Given the description of an element on the screen output the (x, y) to click on. 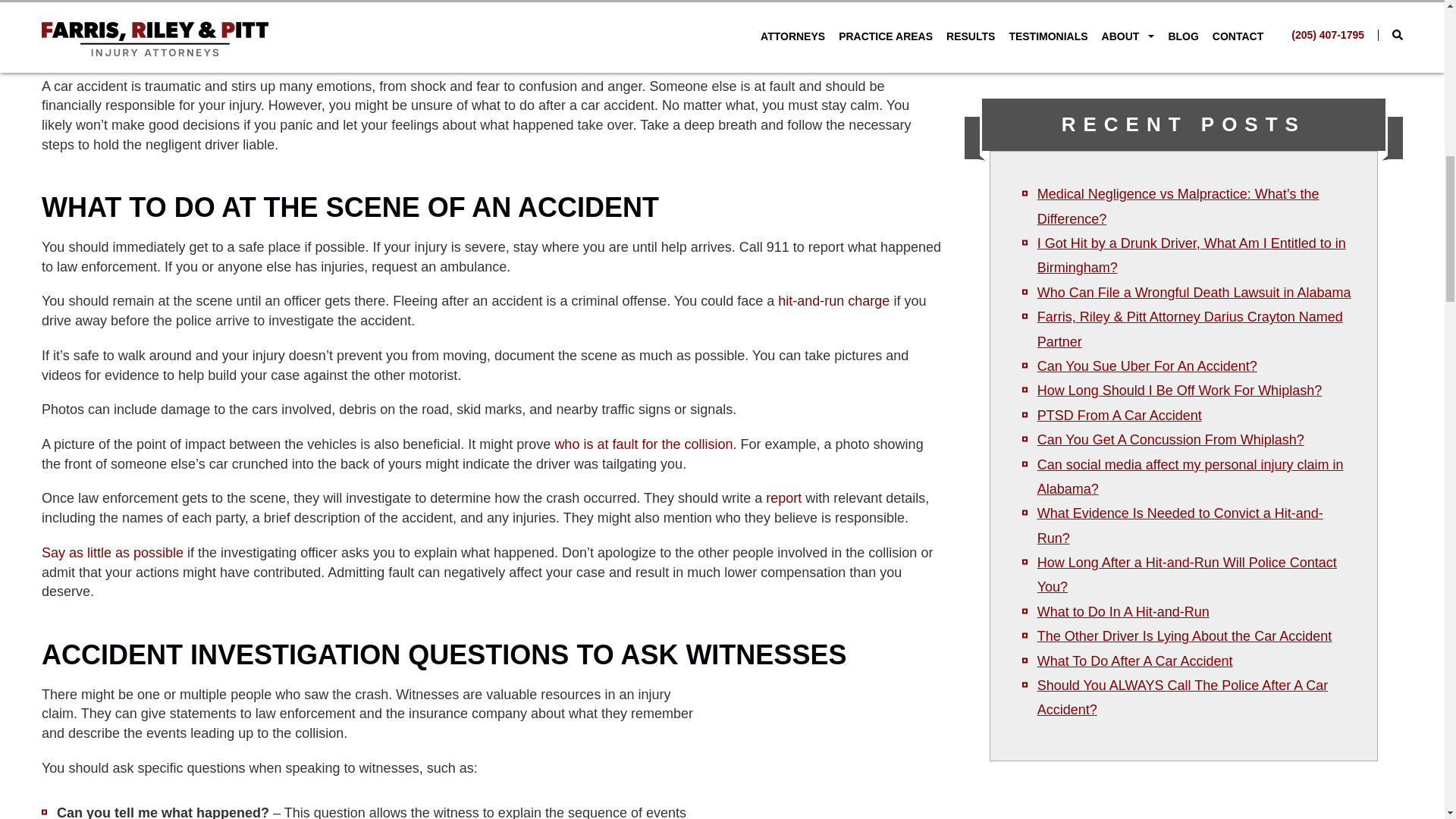
who is at fault for the collision (643, 444)
hit-and-run charge (833, 300)
report (783, 498)
Say as little as possible (112, 552)
